Given the description of an element on the screen output the (x, y) to click on. 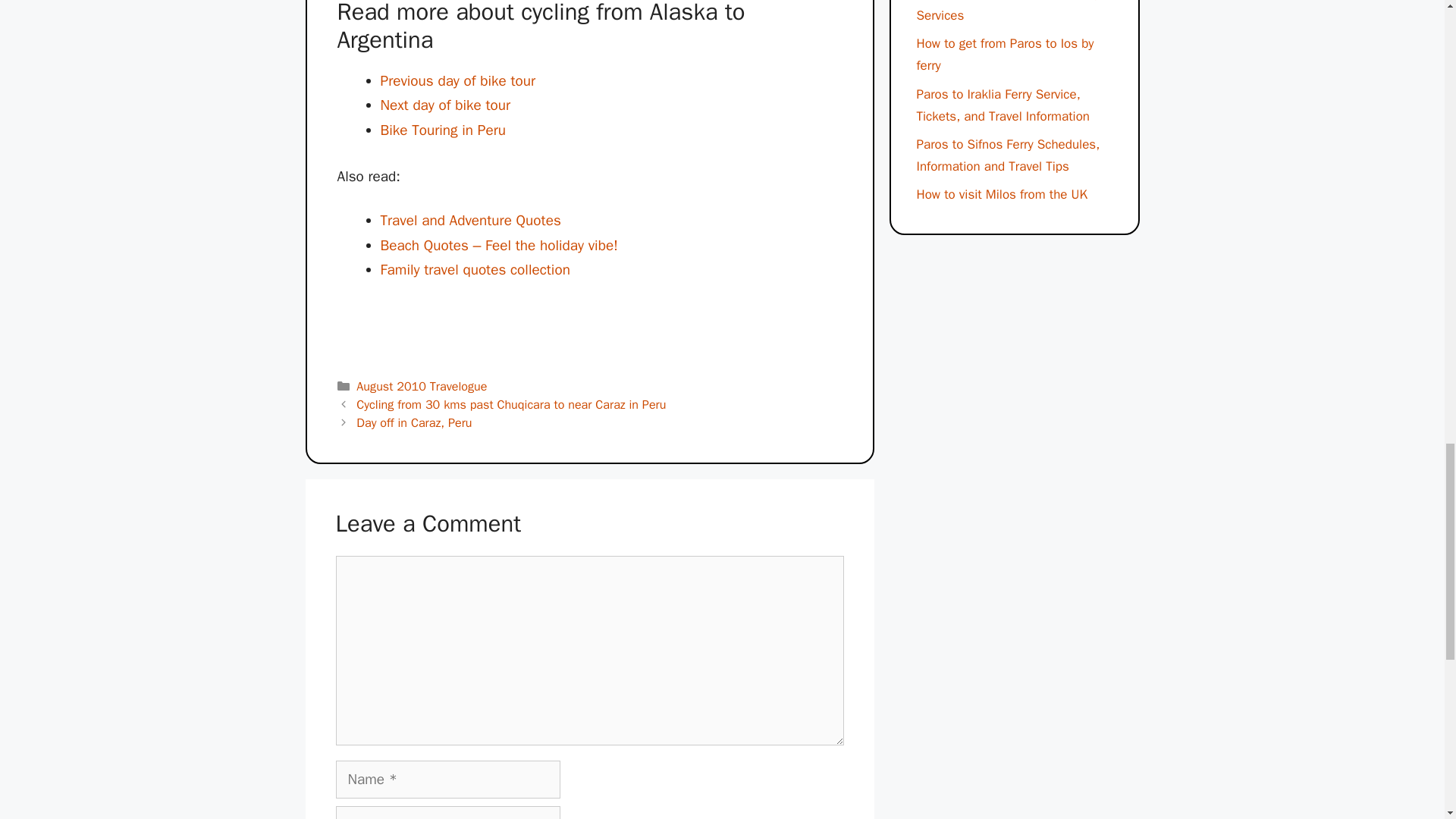
Next day of bike tour (445, 105)
Day off in Caraz, Peru (413, 422)
Family travel quotes collection (475, 270)
Travel and Adventure Quotes (470, 220)
Bike Touring in Peru (442, 130)
Previous day of bike tour (457, 81)
Cycling from 30 kms past Chuqicara to near Caraz in Peru (510, 404)
August 2010 Travelogue (421, 385)
